Given the description of an element on the screen output the (x, y) to click on. 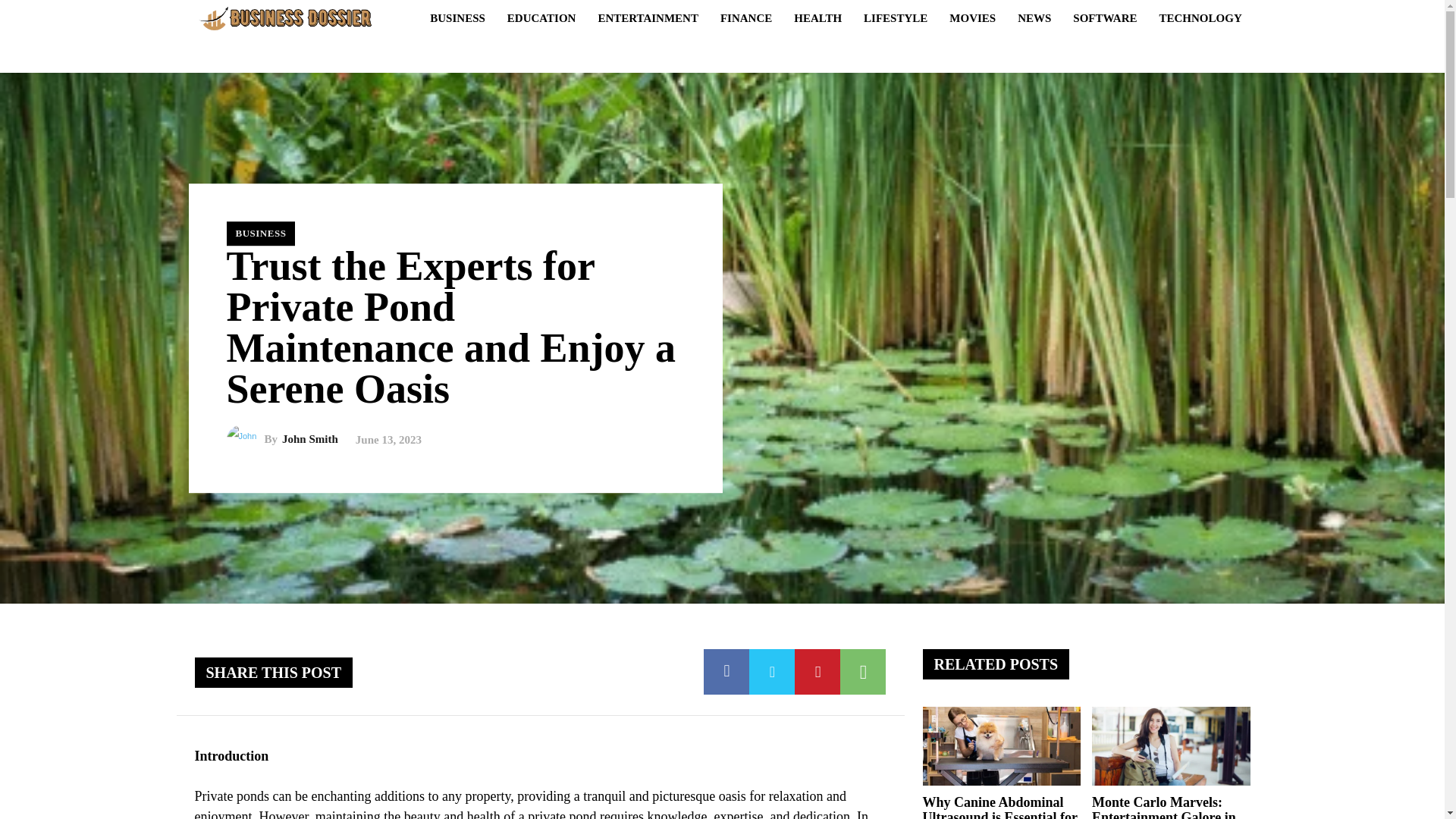
John Smith (244, 440)
Monte Carlo Marvels: Entertainment Galore in Monaco (1164, 806)
NEWS (1034, 17)
BUSINESS (260, 233)
ENTERTAINMENT (647, 17)
TECHNOLOGY (1200, 17)
John Smith (309, 439)
HEALTH (817, 17)
Monte Carlo Marvels: Entertainment Galore in Monaco (1171, 745)
WhatsApp (862, 671)
SOFTWARE (1104, 17)
LIFESTYLE (895, 17)
Twitter (771, 671)
